Given the description of an element on the screen output the (x, y) to click on. 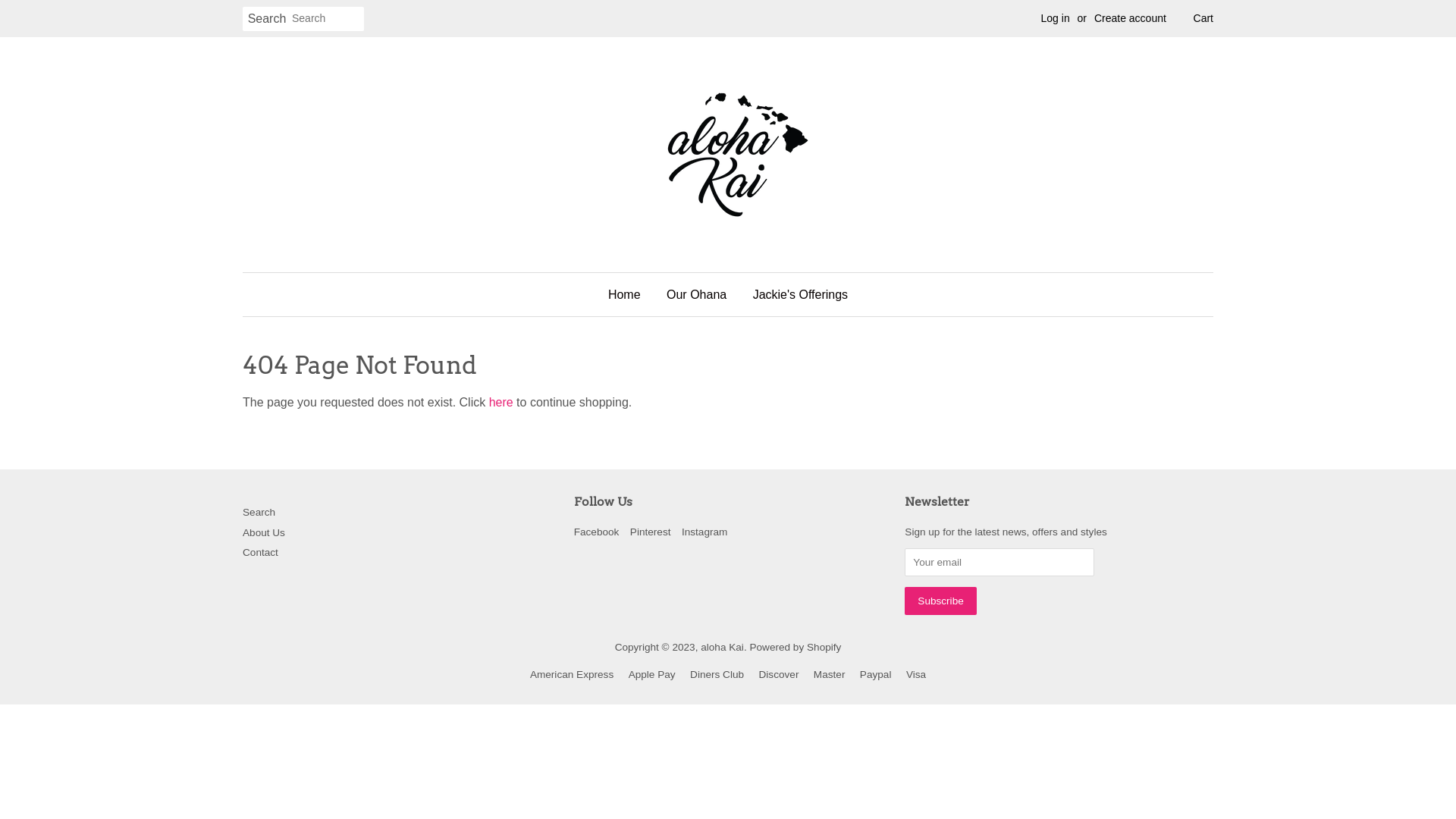
About Us Element type: text (263, 532)
Contact Element type: text (260, 552)
Create account Element type: text (1130, 18)
here Element type: text (501, 401)
Pinterest Element type: text (650, 531)
Subscribe Element type: text (939, 600)
Cart Element type: text (1203, 18)
Home Element type: text (630, 294)
Our Ohana Element type: text (696, 294)
Facebook Element type: text (596, 531)
Search Element type: text (266, 18)
Powered by Shopify Element type: text (794, 646)
Jackie's Offerings Element type: text (794, 294)
Instagram Element type: text (704, 531)
Search Element type: text (258, 511)
aloha Kai Element type: text (721, 646)
Log in Element type: text (1055, 18)
